Given the description of an element on the screen output the (x, y) to click on. 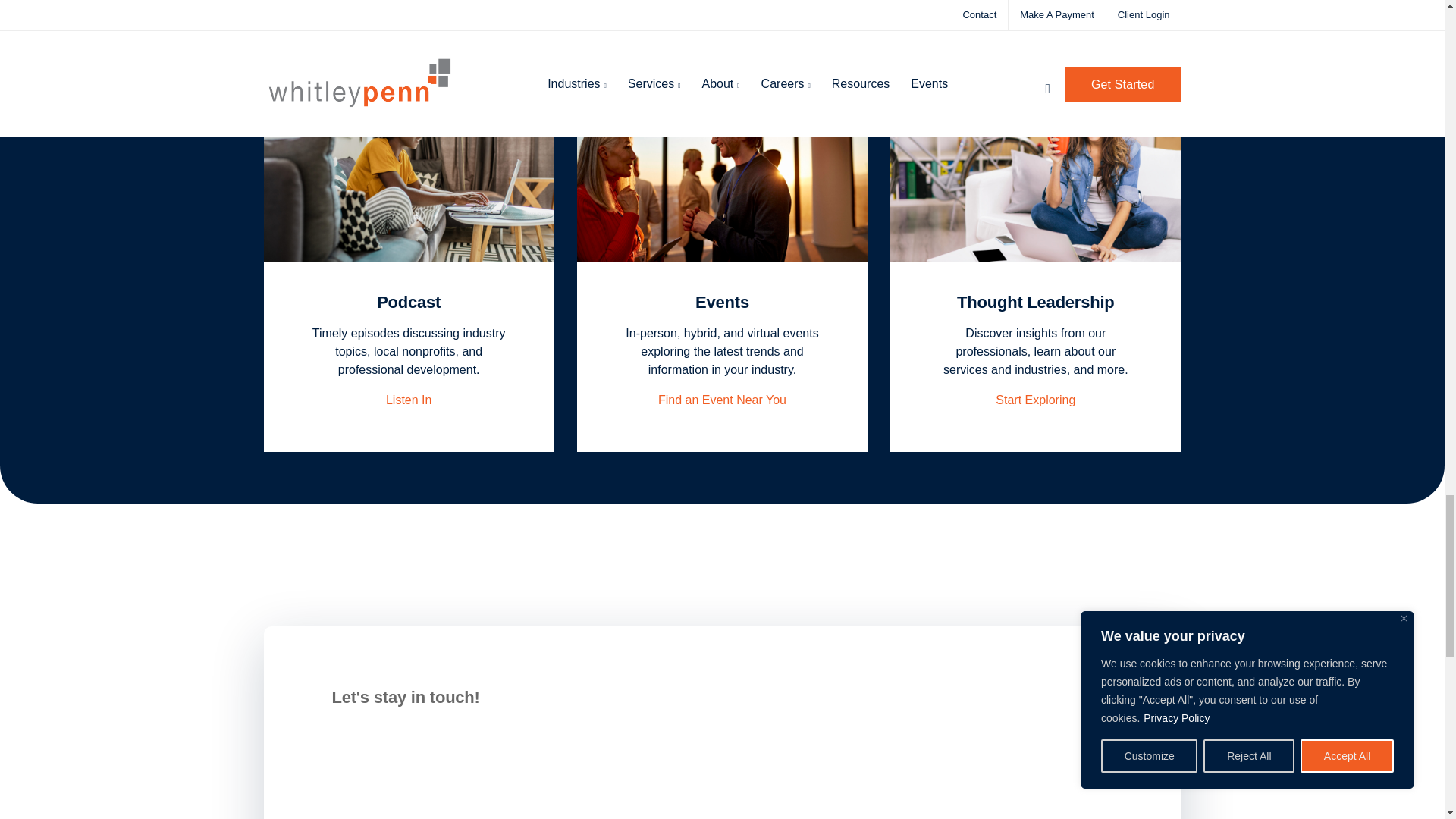
Form 1 (492, 775)
Woman Using Laptop At Home (1034, 164)
